Given the description of an element on the screen output the (x, y) to click on. 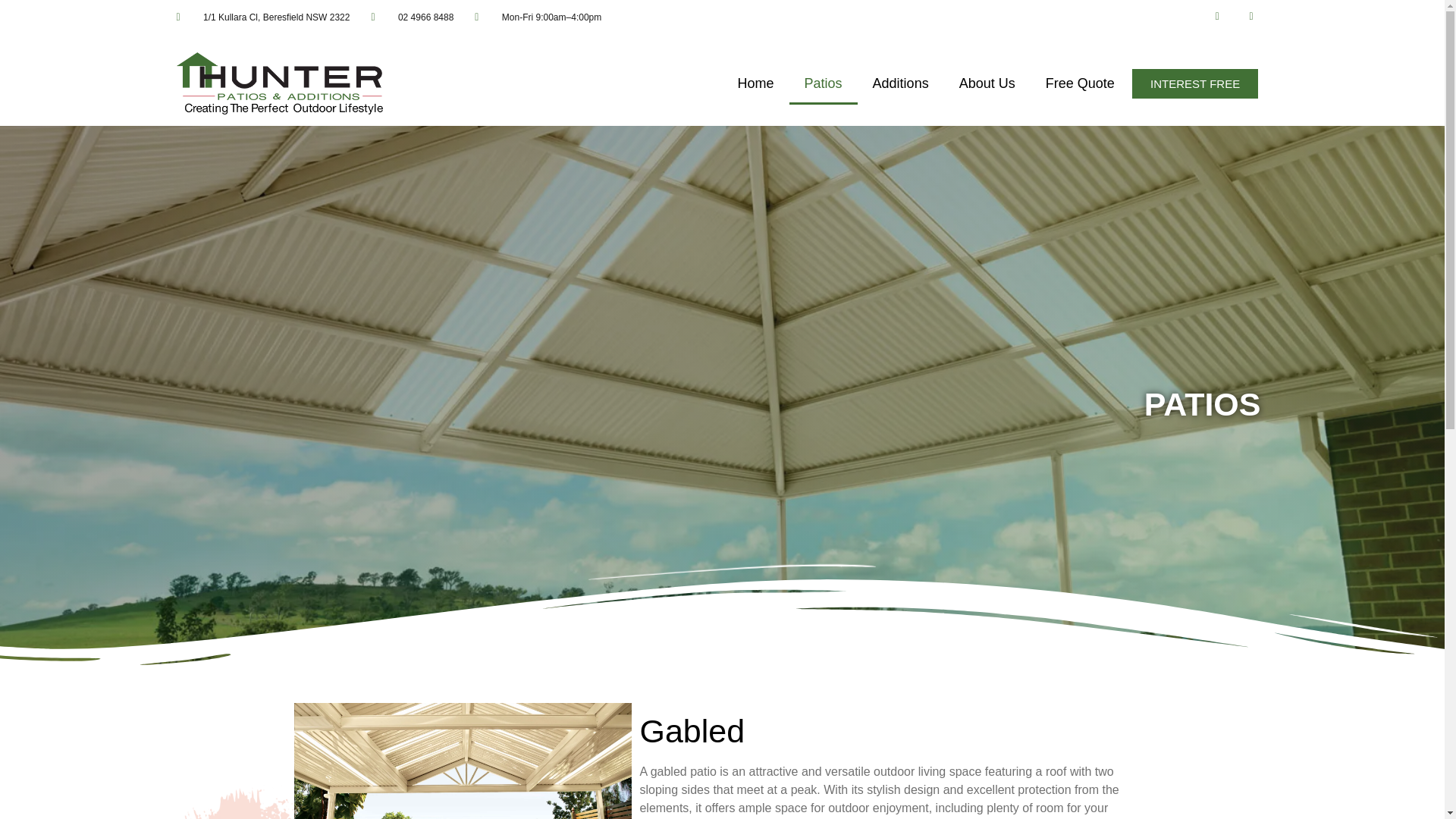
About Us (986, 83)
Additions (900, 83)
INTEREST FREE (1195, 83)
Patios (823, 83)
02 4966 8488 (411, 17)
Home (755, 83)
Free Quote (1079, 83)
